Given the description of an element on the screen output the (x, y) to click on. 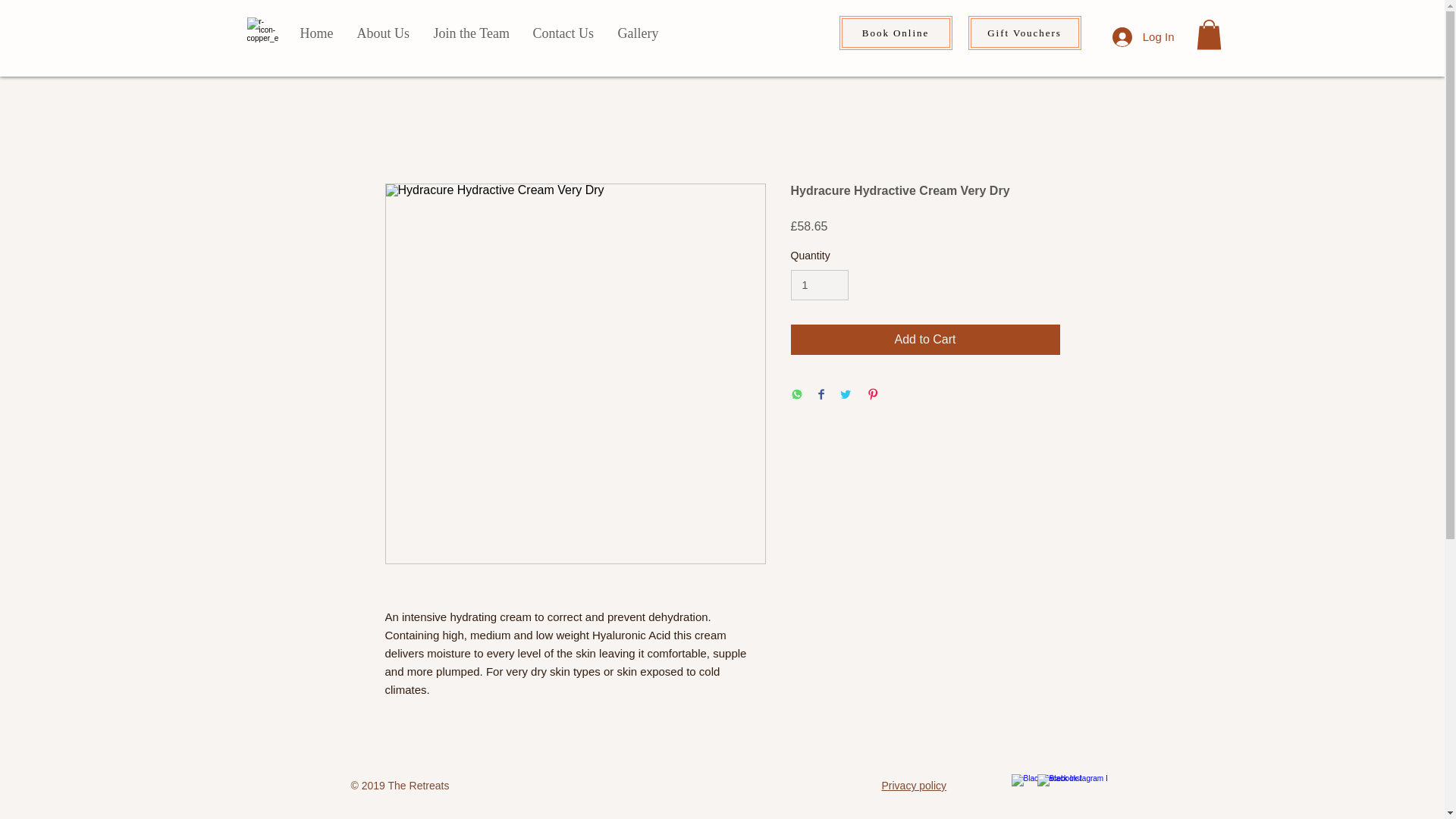
Log In (1143, 36)
Privacy policy (913, 785)
Contact Us (562, 32)
1 (818, 285)
Gift Vouchers (1024, 32)
Home (315, 32)
Book Online (895, 32)
Join the Team (471, 32)
About Us (381, 32)
Add to Cart (924, 339)
